Given the description of an element on the screen output the (x, y) to click on. 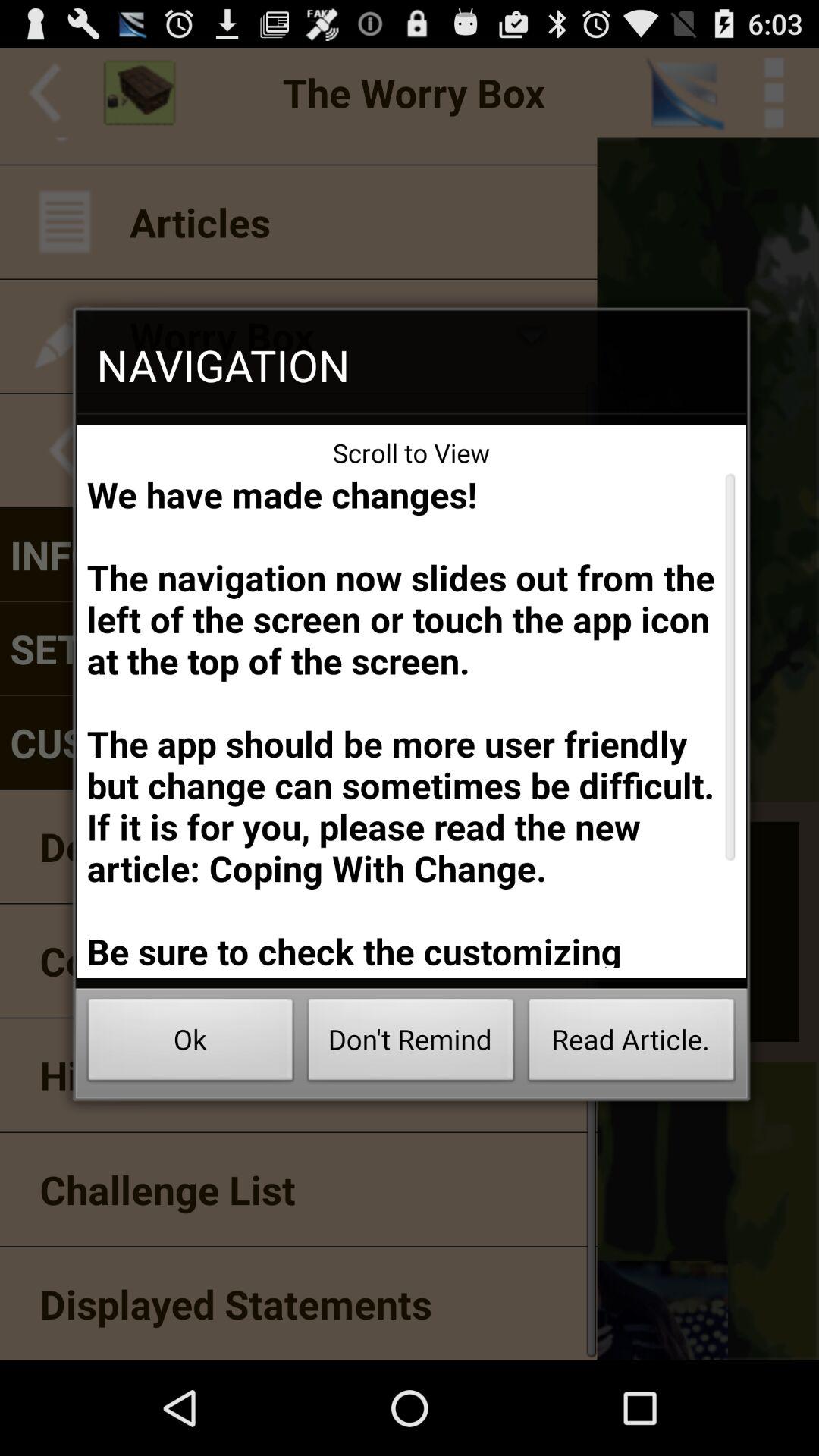
launch the button next to the don't remind button (631, 1044)
